Given the description of an element on the screen output the (x, y) to click on. 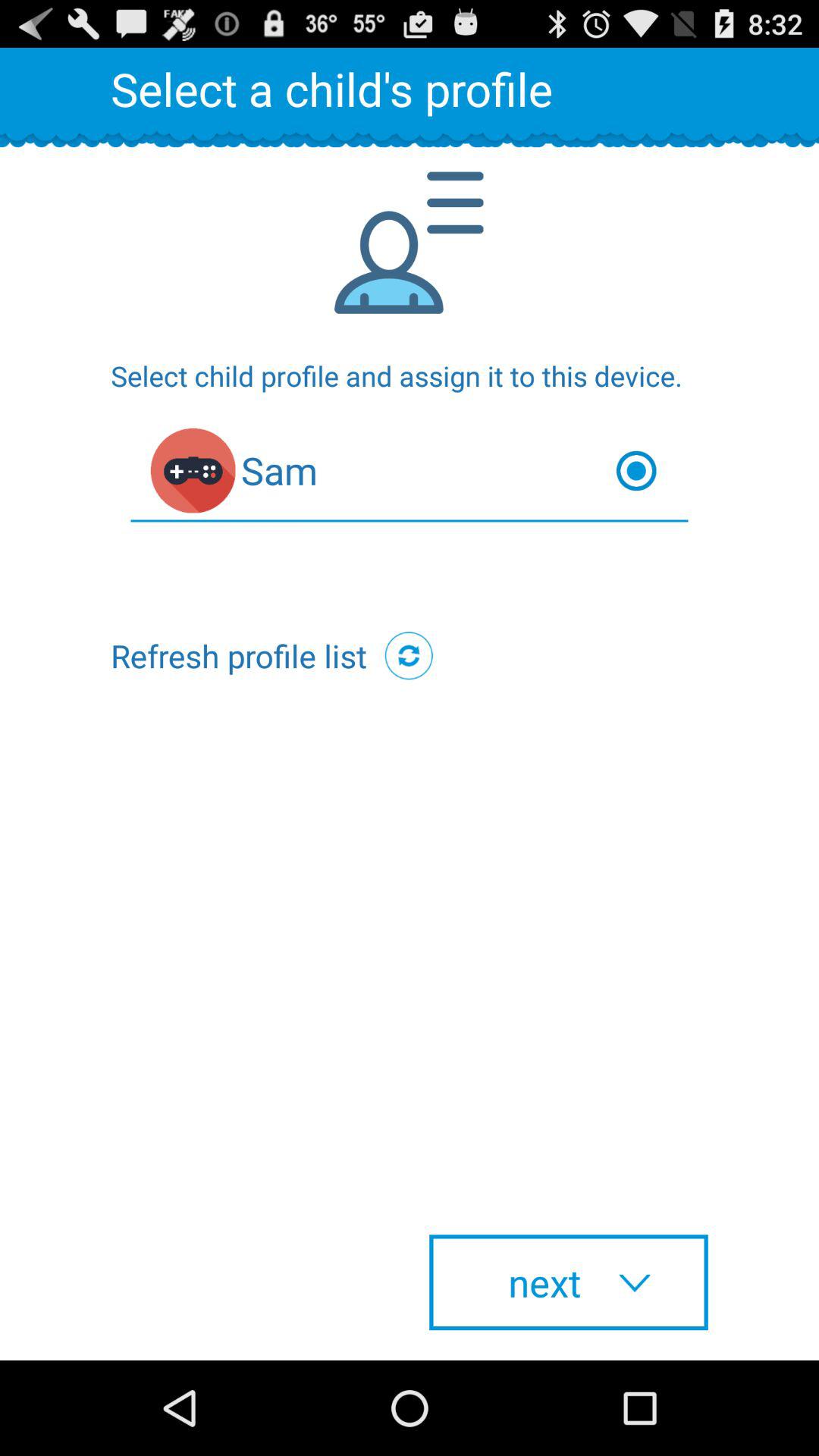
click the item above next (408, 655)
